Given the description of an element on the screen output the (x, y) to click on. 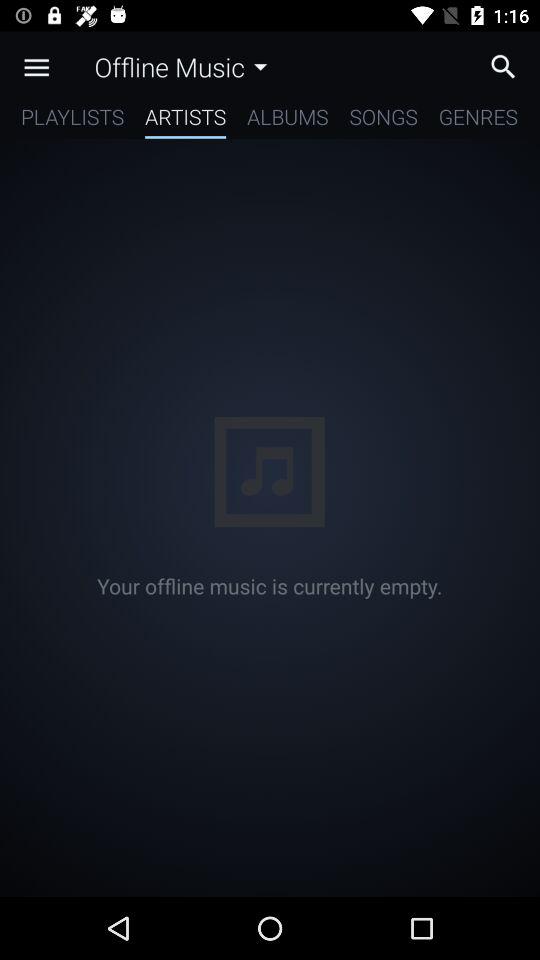
select the first option below offline music (72, 120)
select the dropdown which is right after offline music (260, 66)
tap on the tab named as songs (383, 120)
select the text beside artists (287, 120)
go to music icon on the middle (269, 472)
click on text artists (185, 120)
